Given the description of an element on the screen output the (x, y) to click on. 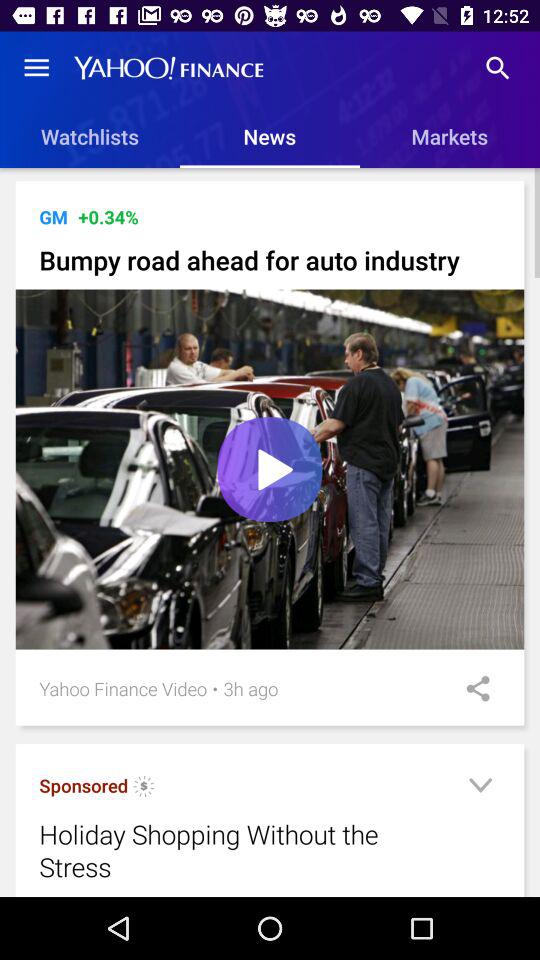
launch the icon next to 3h ago icon (215, 688)
